Given the description of an element on the screen output the (x, y) to click on. 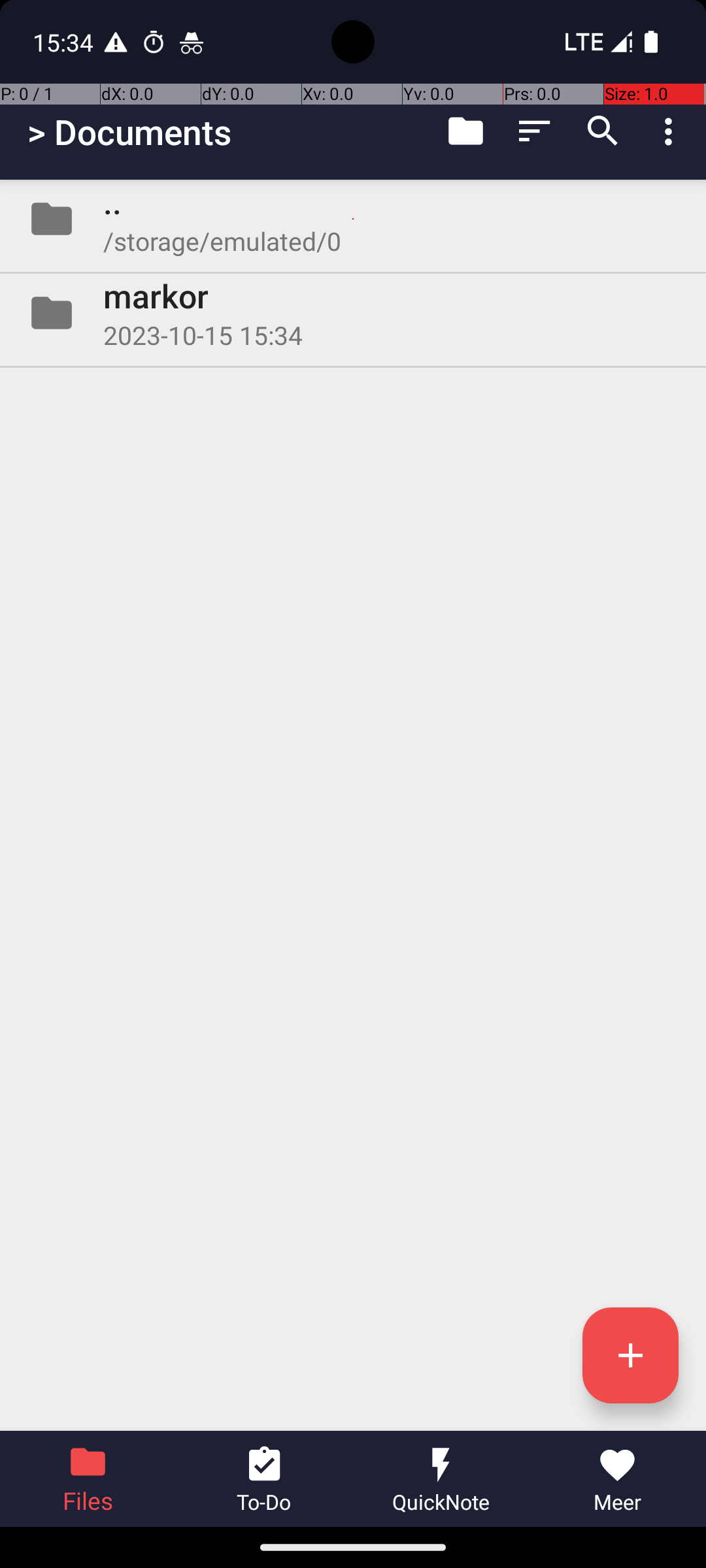
> Documents Element type: android.widget.TextView (129, 131)
Soek Element type: android.widget.TextView (602, 131)
Meer opsies Element type: android.widget.ImageView (671, 131)
Meer Element type: android.widget.FrameLayout (617, 1478)
Folder .. /storage/emulated/0/Documents Element type: android.widget.LinearLayout (353, 218)
Folder markor  Element type: android.widget.LinearLayout (353, 312)
Chrome notification: Incognito Tabs Element type: android.widget.ImageView (191, 41)
